Given the description of an element on the screen output the (x, y) to click on. 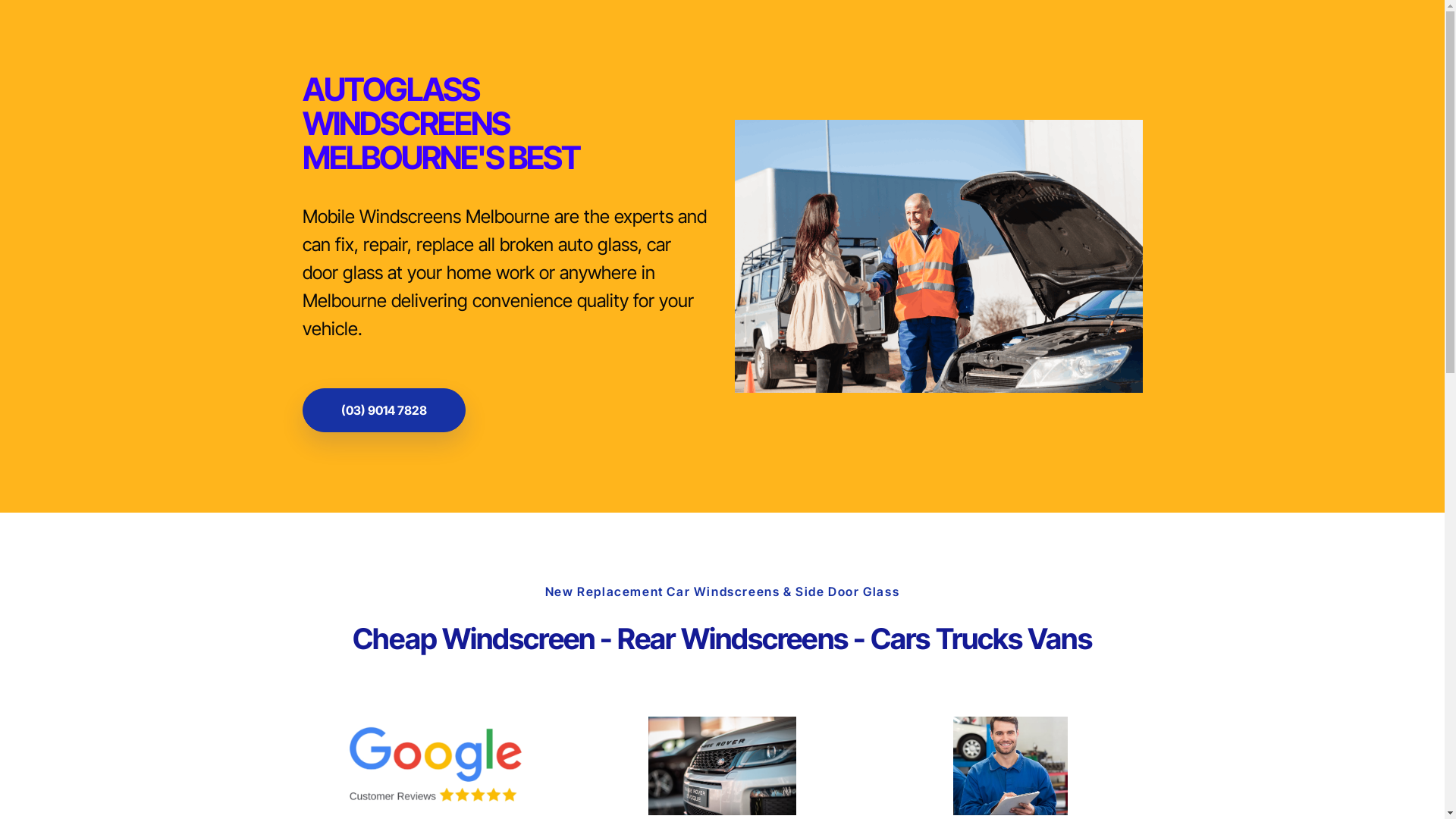
(03) 9014 7828 Element type: text (382, 410)
